Given the description of an element on the screen output the (x, y) to click on. 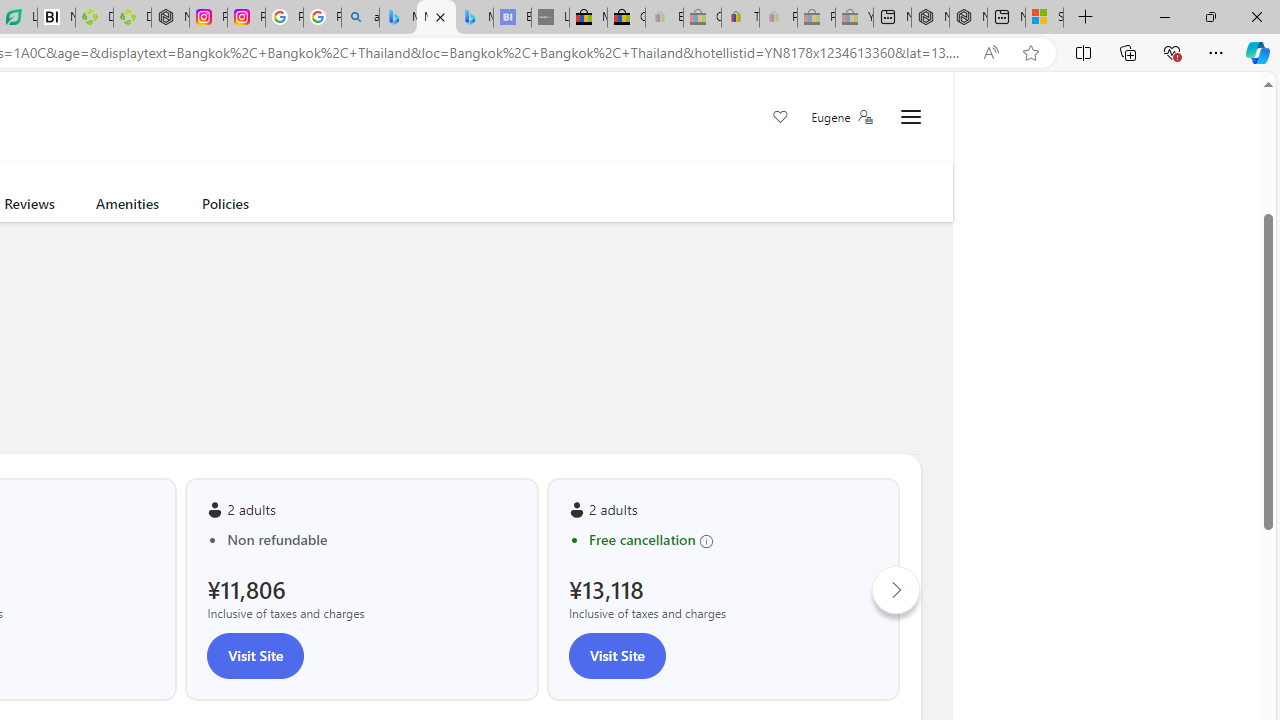
Policies (225, 207)
Nordace - Nordace Edin Collection (170, 17)
read more (152, 121)
alabama high school quarterback dies - Search (359, 17)
